Given the description of an element on the screen output the (x, y) to click on. 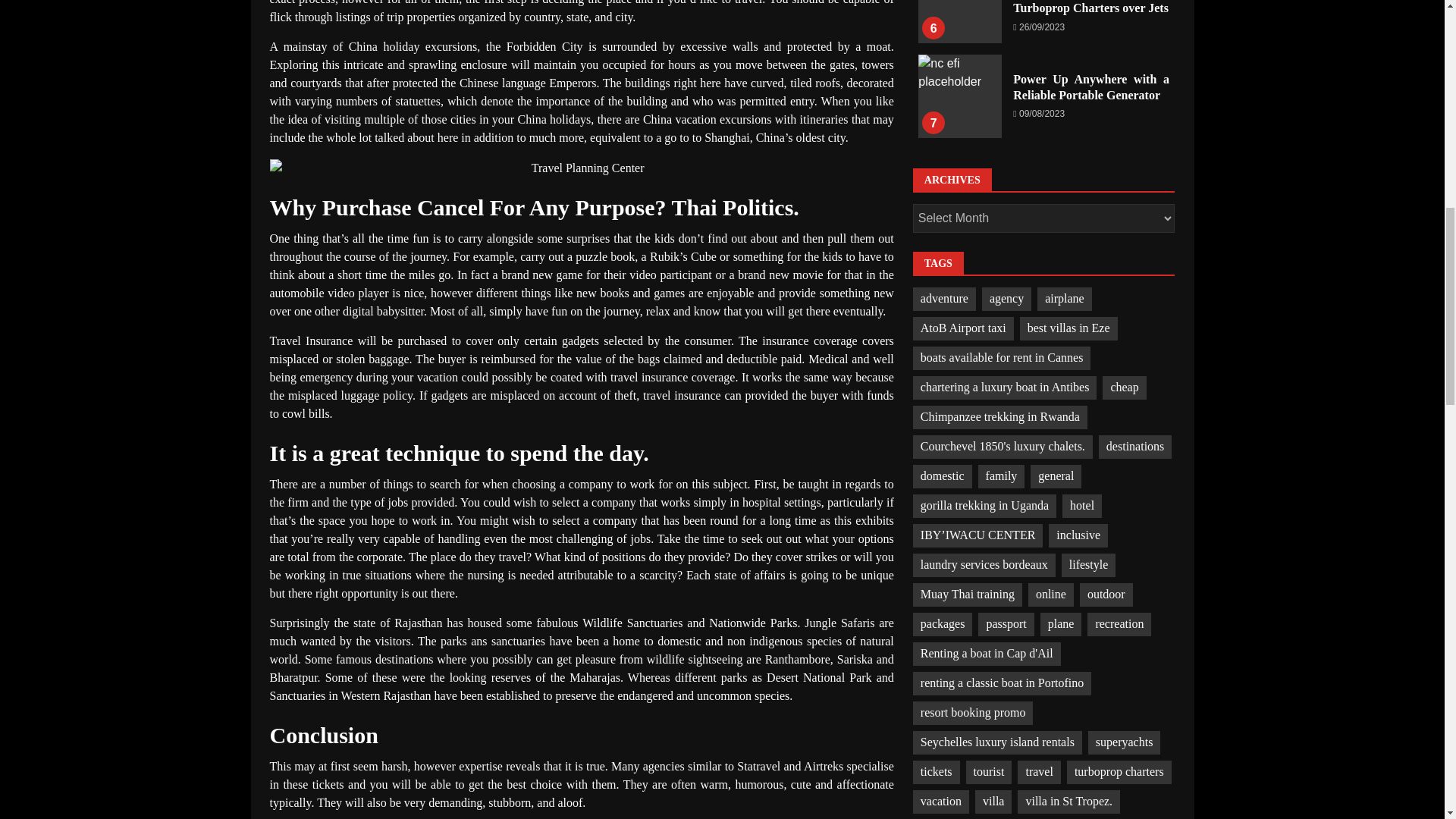
Power Up Anywhere with a Reliable Portable Generator (959, 96)
What's Really Happening With Travelers Find Adventure (581, 167)
